Given the description of an element on the screen output the (x, y) to click on. 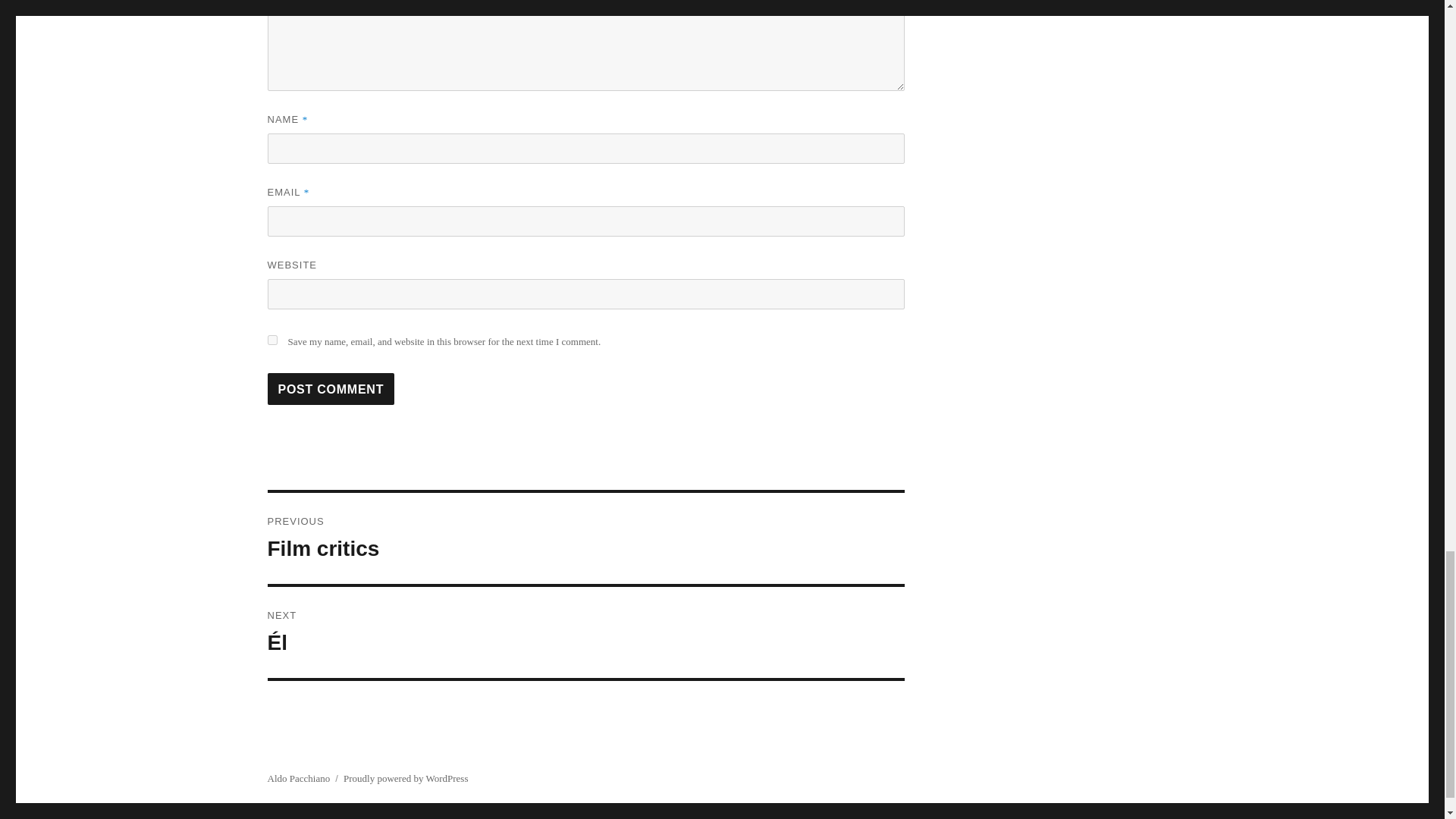
yes (271, 339)
Post Comment (330, 388)
Post Comment (330, 388)
